Given the description of an element on the screen output the (x, y) to click on. 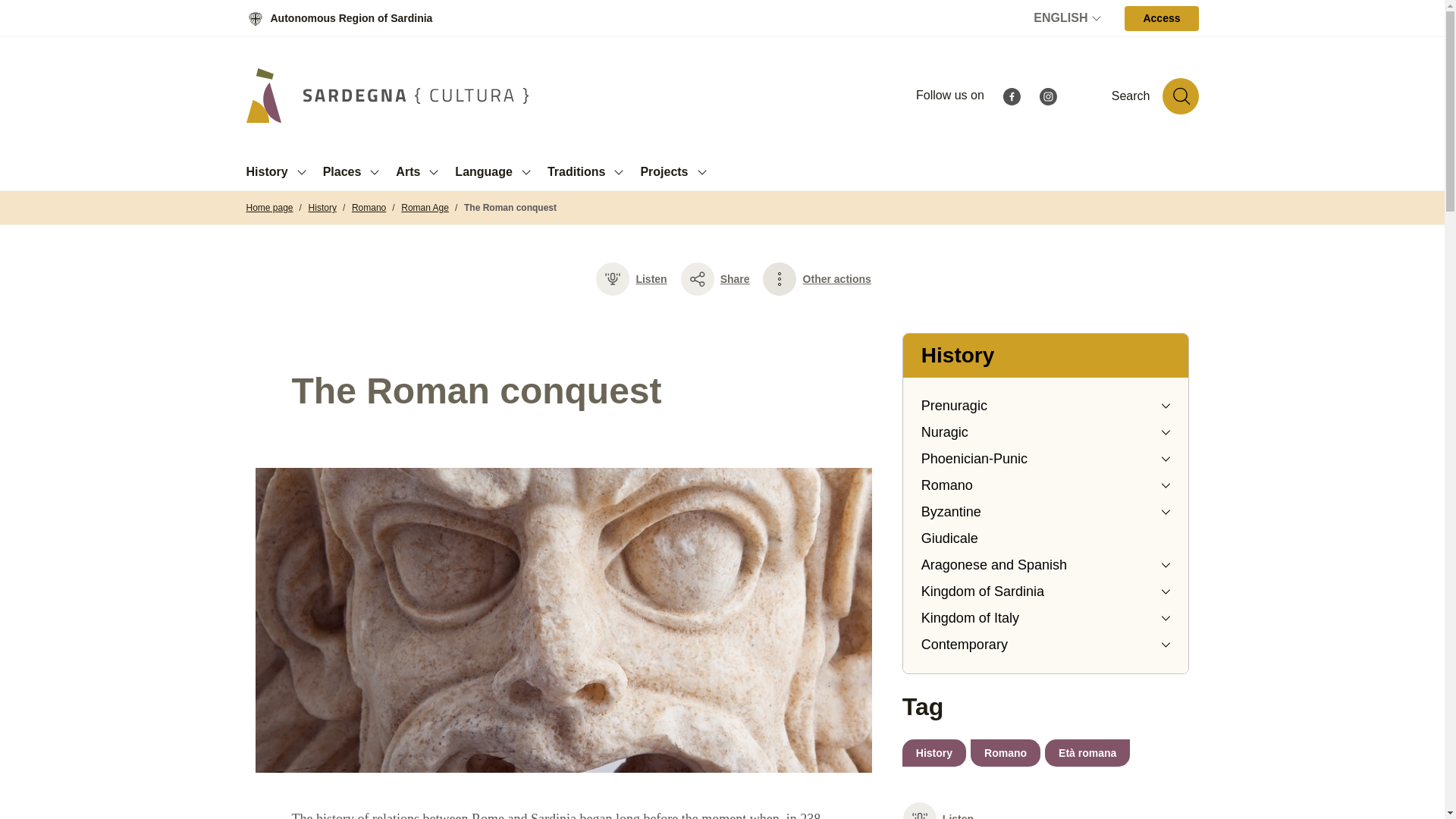
Facebook (1011, 94)
Other actions (837, 278)
Select language (1069, 18)
Instagram (1048, 94)
Access (1161, 18)
Autonomous Region of Sardinia (339, 18)
Search in the site (1179, 94)
History (934, 752)
Listen (630, 278)
Share (715, 278)
